Given the description of an element on the screen output the (x, y) to click on. 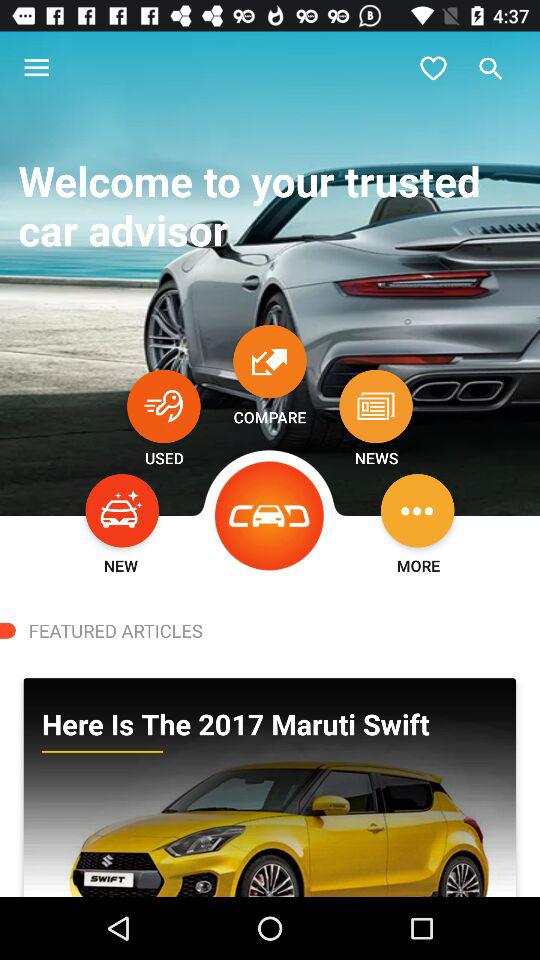
tap item next to the used (269, 515)
